Given the description of an element on the screen output the (x, y) to click on. 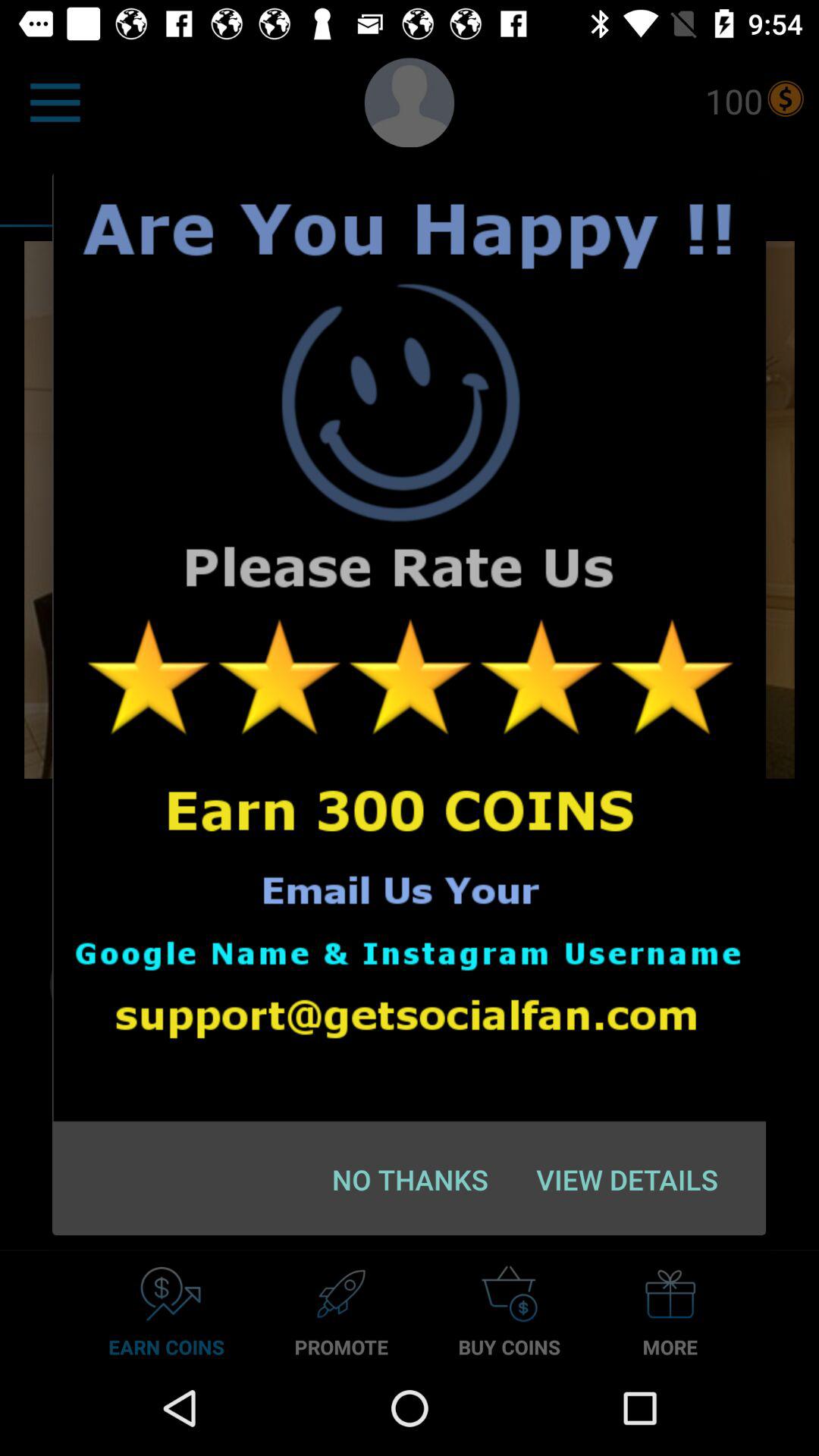
jump until the view details icon (627, 1179)
